Given the description of an element on the screen output the (x, y) to click on. 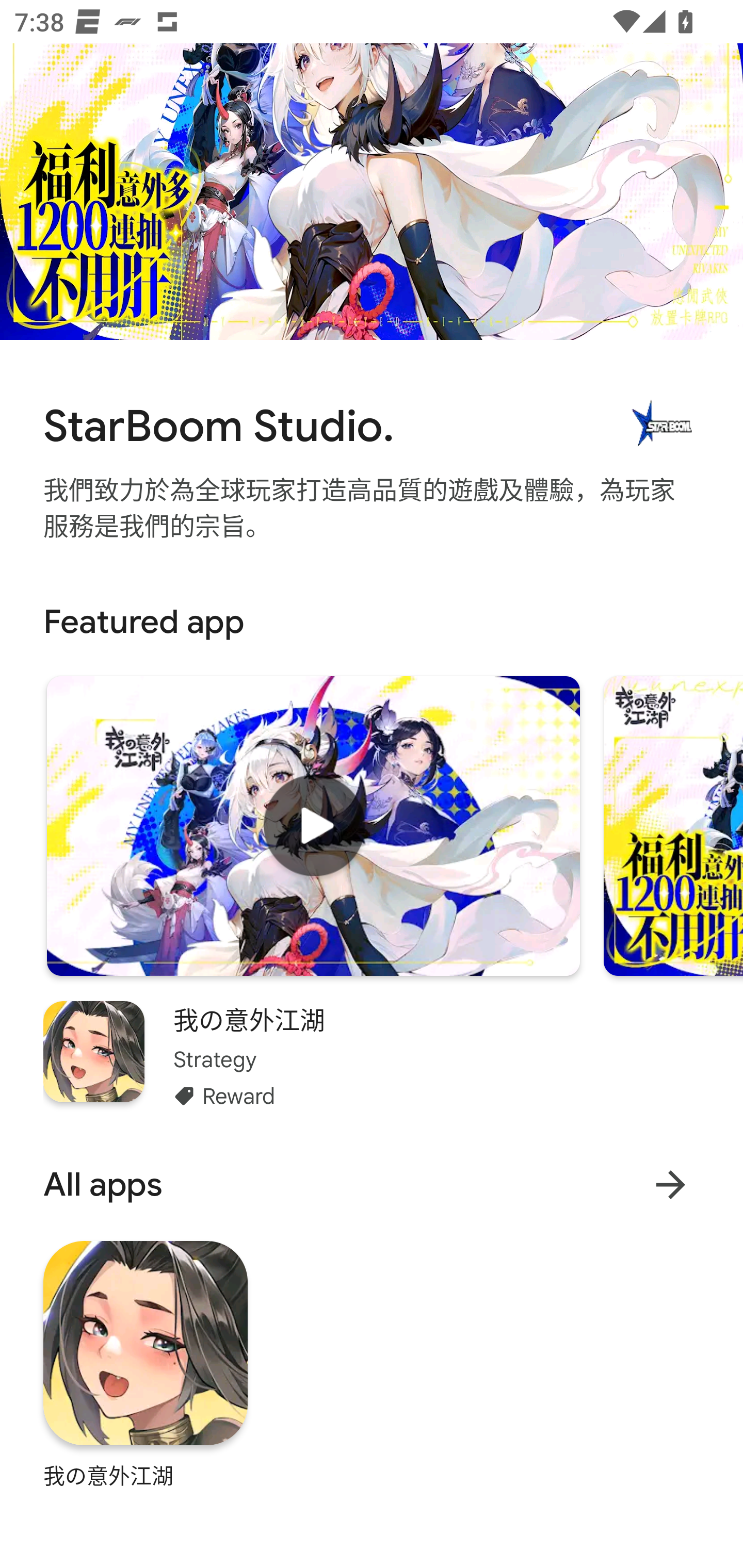
Play trailer for "我の意外江湖" (313, 825)
我の意外江湖
Strategy
Reward
 (371, 1056)
All apps More results for All apps (371, 1184)
More results for All apps (670, 1184)
我の意外江湖
 (145, 1363)
